Given the description of an element on the screen output the (x, y) to click on. 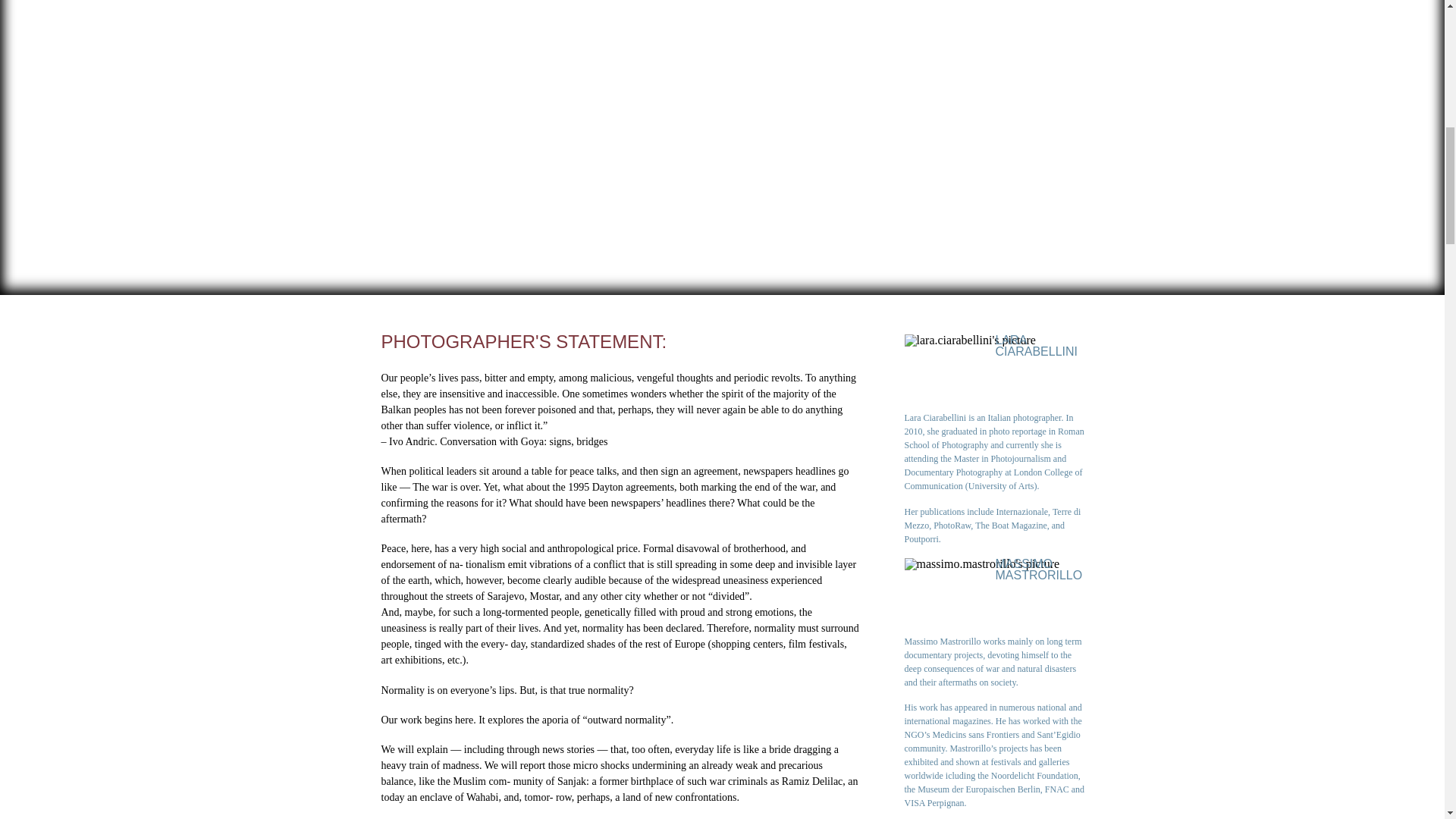
mail (1053, 404)
mail (1077, 628)
massimo.mastrorillo's picture (981, 563)
lara.ciarabellini's picture (969, 340)
